Given the description of an element on the screen output the (x, y) to click on. 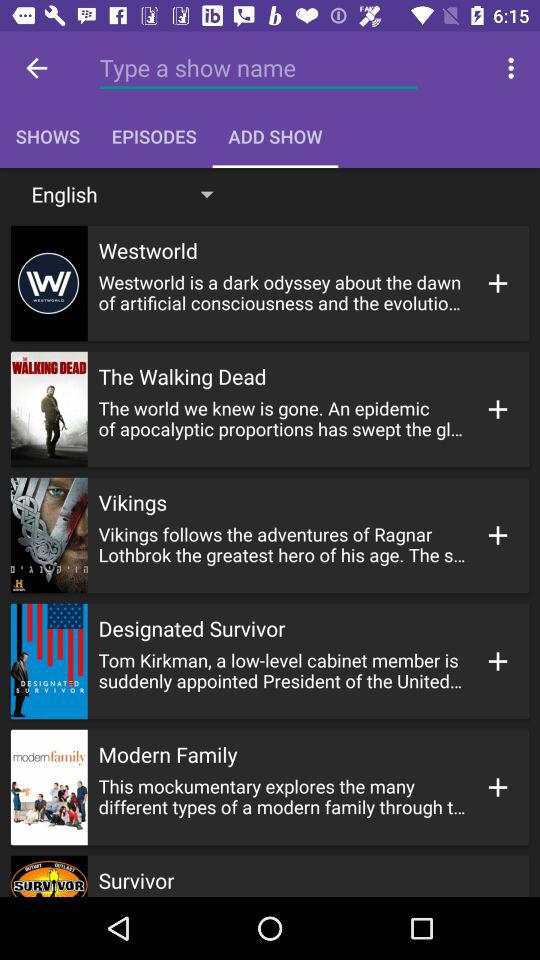
turn on the item above the shows icon (258, 67)
